Given the description of an element on the screen output the (x, y) to click on. 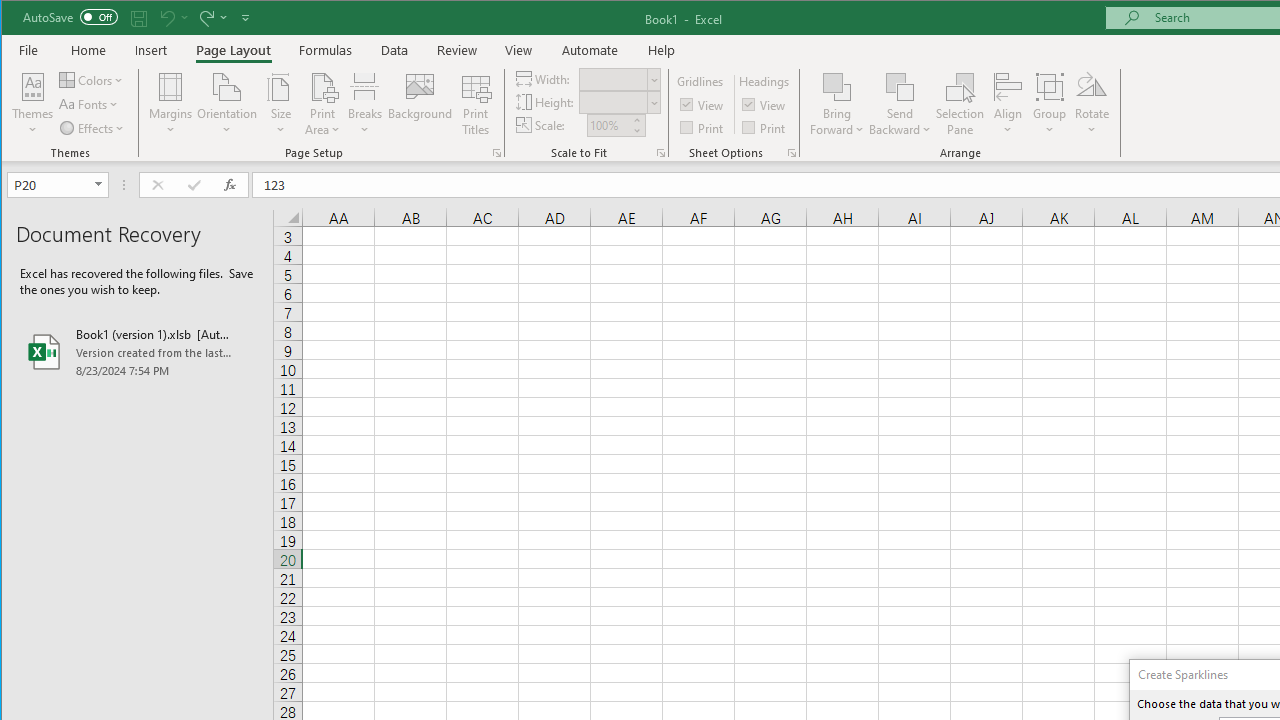
Send Backward (900, 104)
Width (612, 79)
Height (619, 101)
Print Area (323, 104)
Size (280, 104)
Orientation (226, 104)
Align (1007, 104)
